Given the description of an element on the screen output the (x, y) to click on. 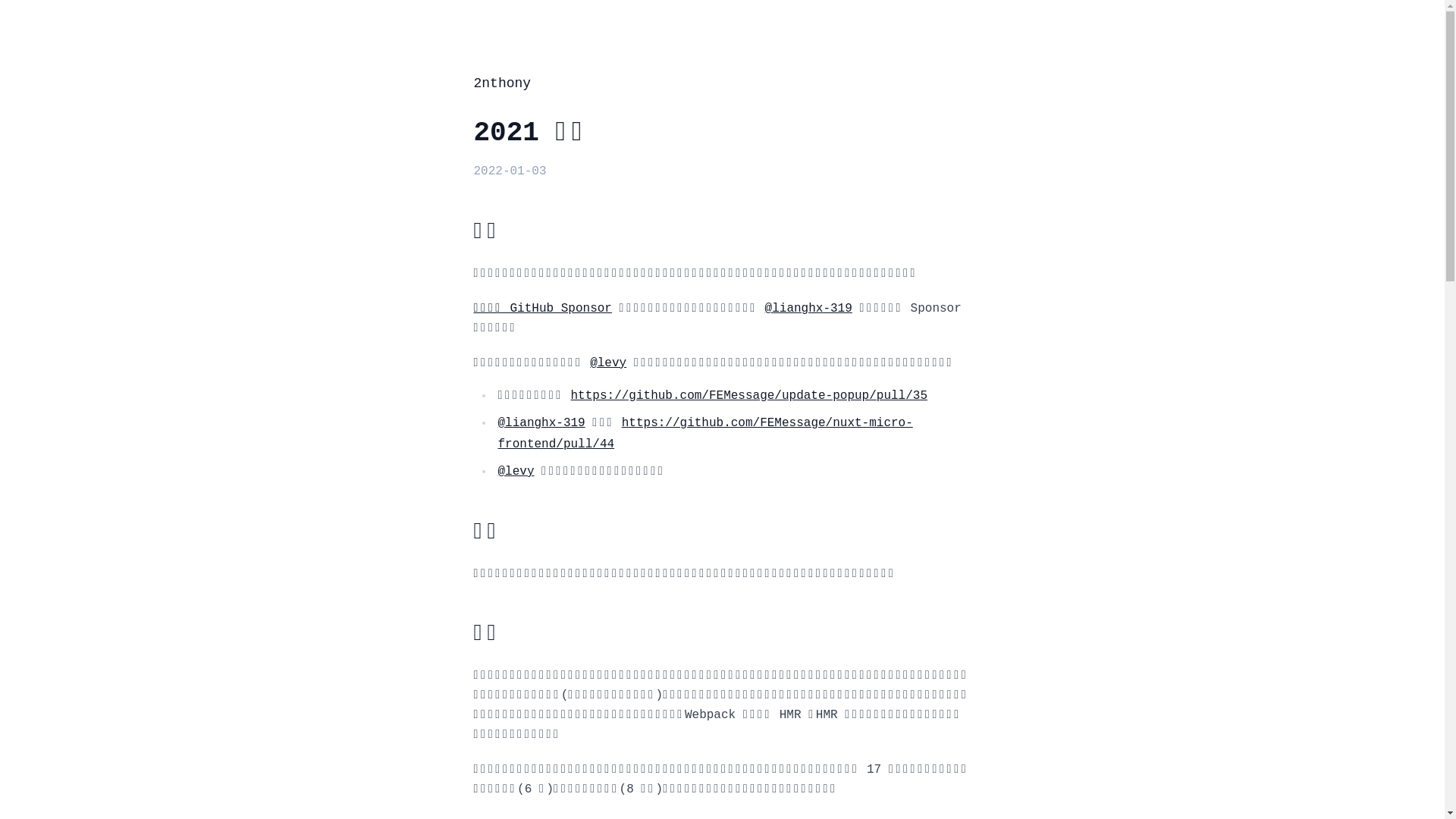
2nthony Element type: text (501, 83)
@lianghx-319 Element type: text (808, 308)
https://github.com/FEMessage/nuxt-micro-frontend/pull/44 Element type: text (704, 433)
https://github.com/FEMessage/update-popup/pull/35 Element type: text (749, 395)
@lianghx-319 Element type: text (540, 422)
@levy Element type: text (515, 471)
@levy Element type: text (607, 363)
